Given the description of an element on the screen output the (x, y) to click on. 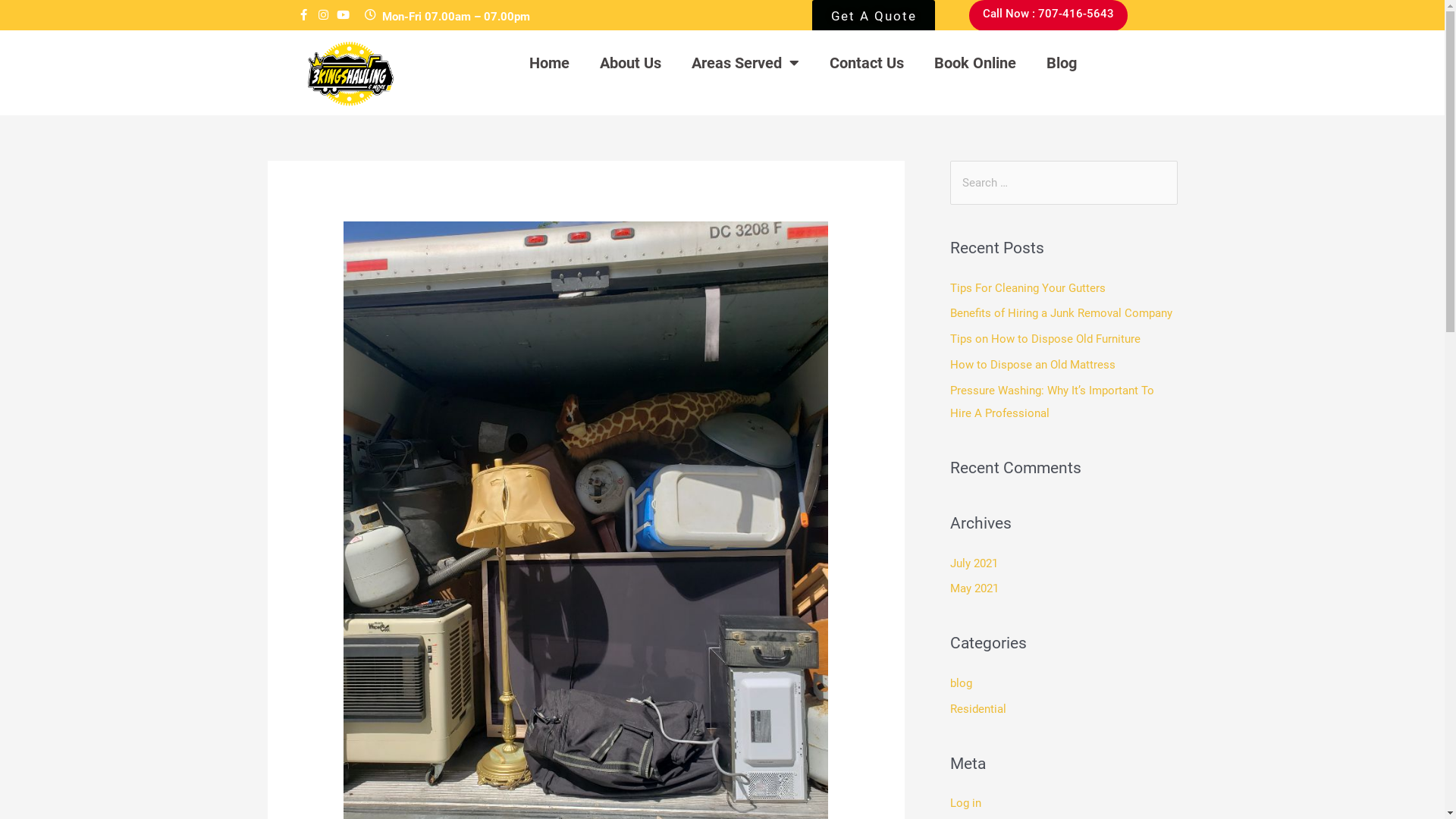
July 2021 Element type: text (973, 563)
Blog Element type: text (1061, 62)
Search Element type: text (1160, 175)
blog Element type: text (960, 683)
Contact Us Element type: text (866, 62)
Areas Served Element type: text (745, 62)
Tips on How to Dispose Old Furniture Element type: text (1044, 338)
Get A Quote Element type: text (873, 20)
Home Element type: text (549, 62)
Book Online Element type: text (975, 62)
Log in Element type: text (964, 802)
About Us Element type: text (630, 62)
How to Dispose an Old Mattress Element type: text (1031, 364)
Benefits of Hiring a Junk Removal Company Element type: text (1060, 313)
Call Now : 707-416-5643 Element type: text (1048, 15)
Residential Element type: text (977, 708)
Tips For Cleaning Your Gutters Element type: text (1026, 287)
May 2021 Element type: text (973, 588)
